Given the description of an element on the screen output the (x, y) to click on. 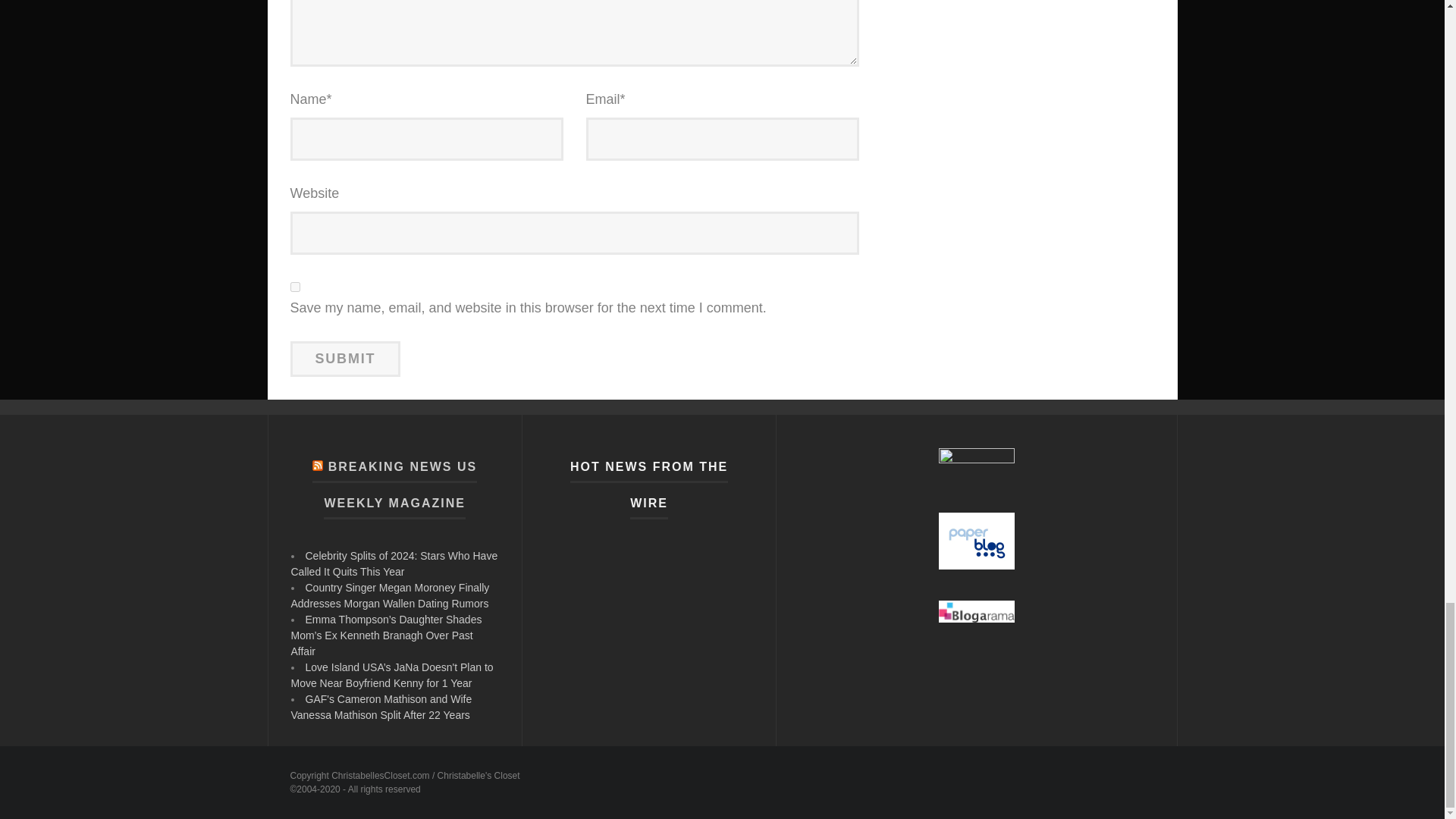
yes (294, 286)
Submit (344, 357)
